Given the description of an element on the screen output the (x, y) to click on. 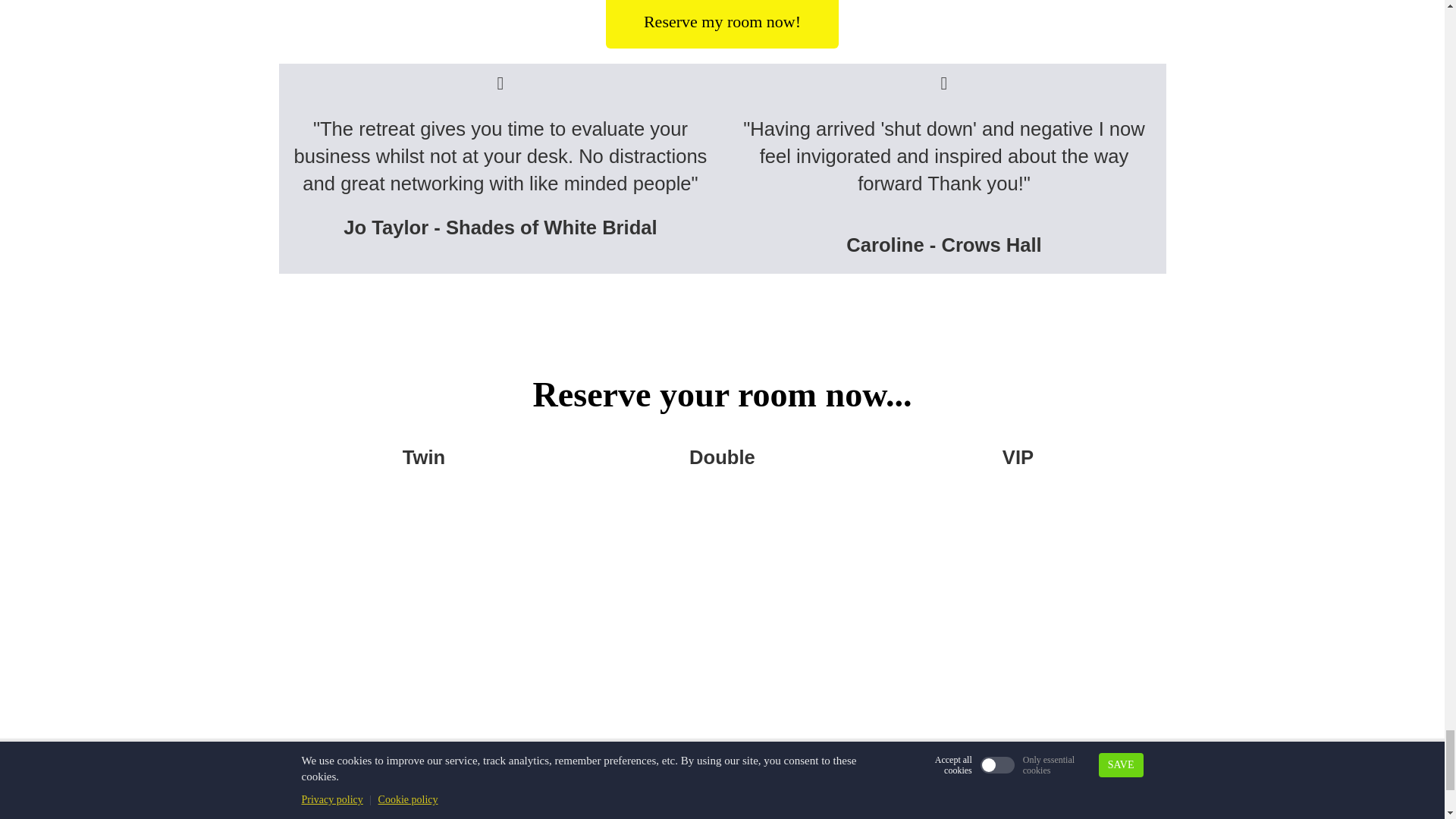
Free upgrade to deluxe room for first 15 bookings (721, 813)
Based on 2 guests sharing (426, 813)
Reserve my room now! (721, 24)
